Given the description of an element on the screen output the (x, y) to click on. 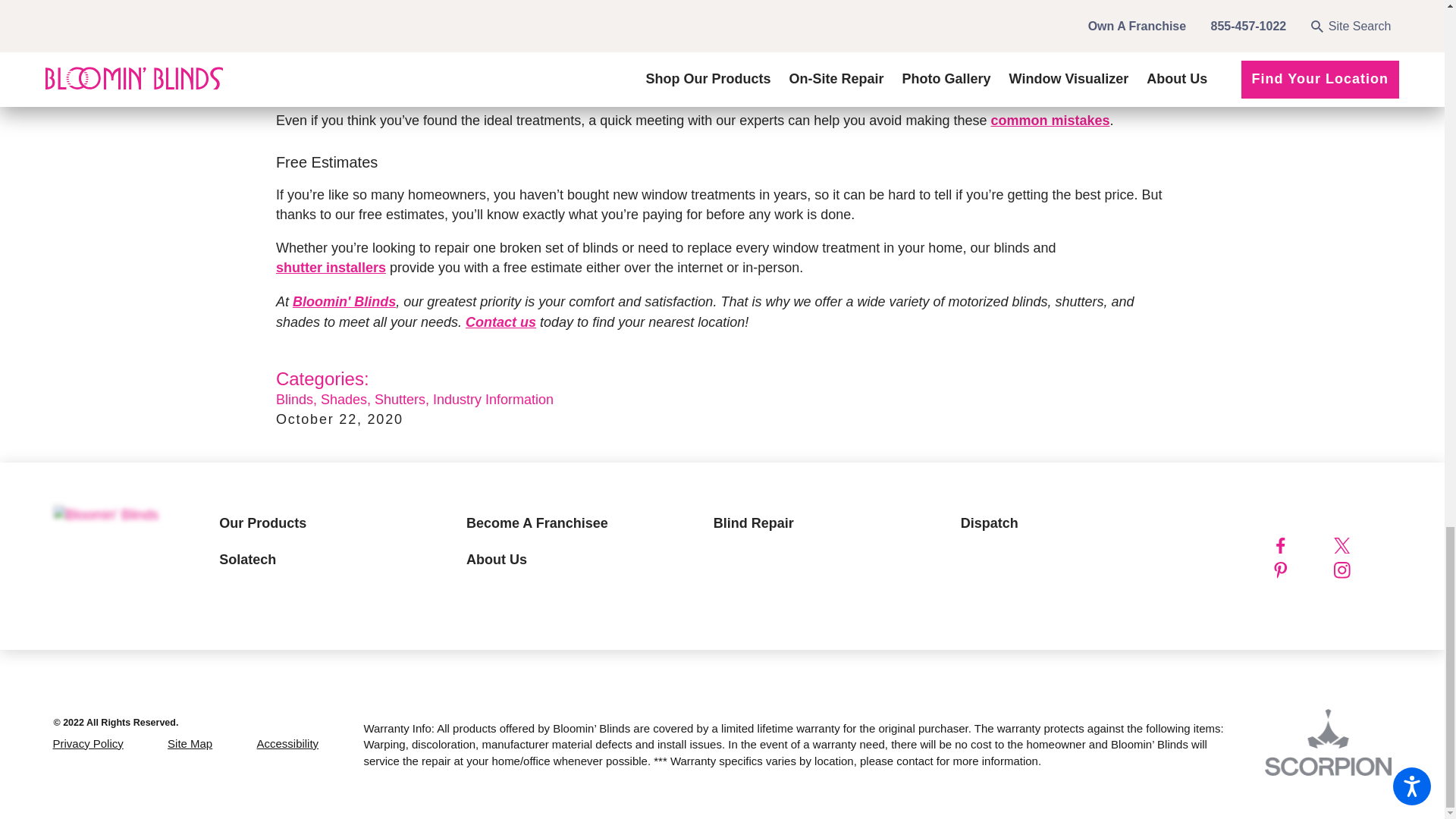
Bloomin' Blinds (105, 515)
Pinterest (1298, 569)
LinkedIn (1329, 594)
Twitter (1360, 545)
Instagram (1360, 569)
Internet Marketing Experts (1328, 742)
Facebook (1298, 545)
